Given the description of an element on the screen output the (x, y) to click on. 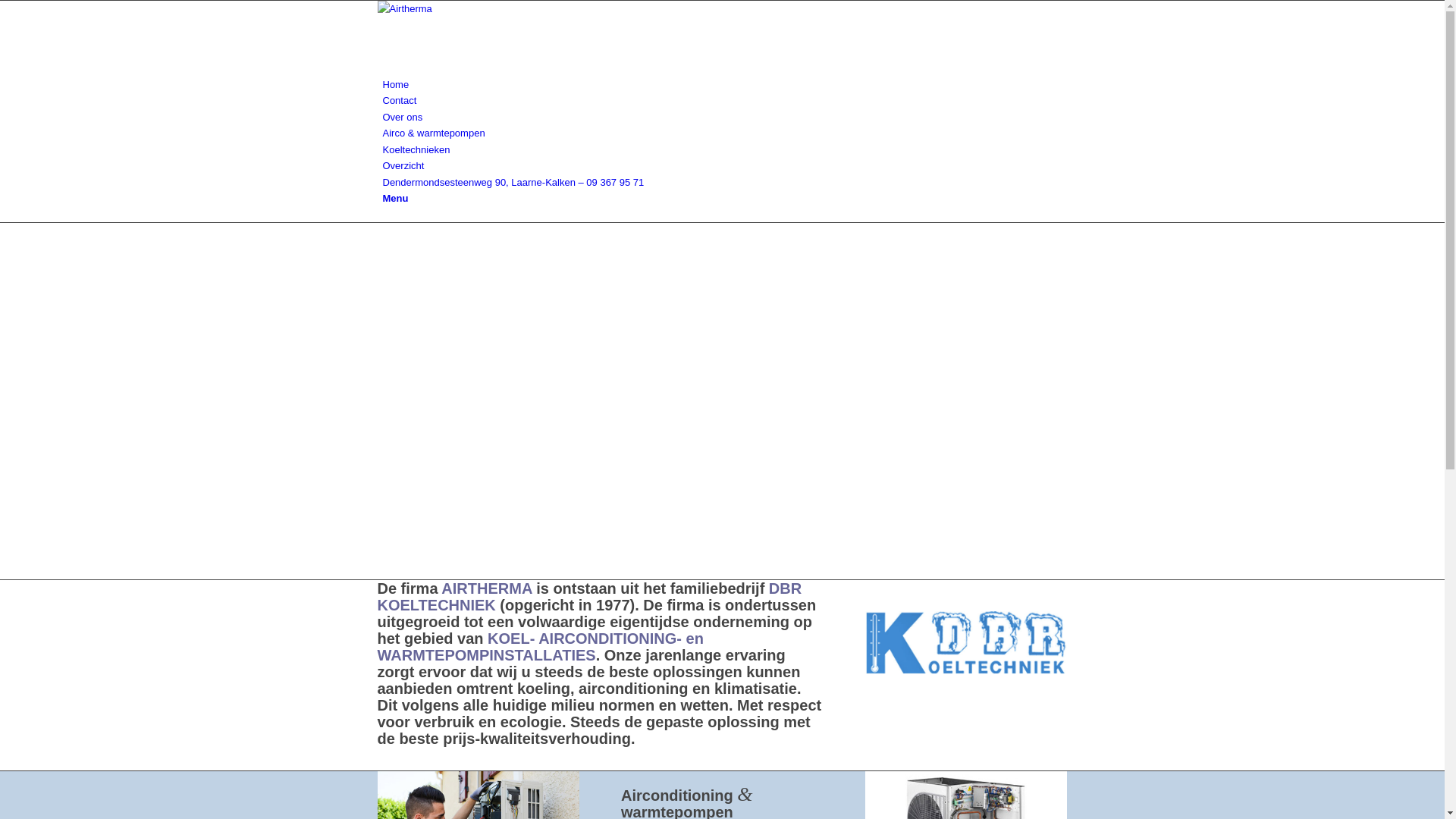
Over ons Element type: text (402, 116)
Menu Element type: text (394, 197)
Contacteer ons voor uw vragen of een offerte Element type: text (476, 762)
dbr Element type: hover (966, 642)
Contact Element type: text (399, 100)
Home Element type: text (395, 84)
Koeltechnieken Element type: text (415, 149)
Overzicht Element type: text (402, 165)
Airco & warmtepompen Element type: text (433, 132)
